Given the description of an element on the screen output the (x, y) to click on. 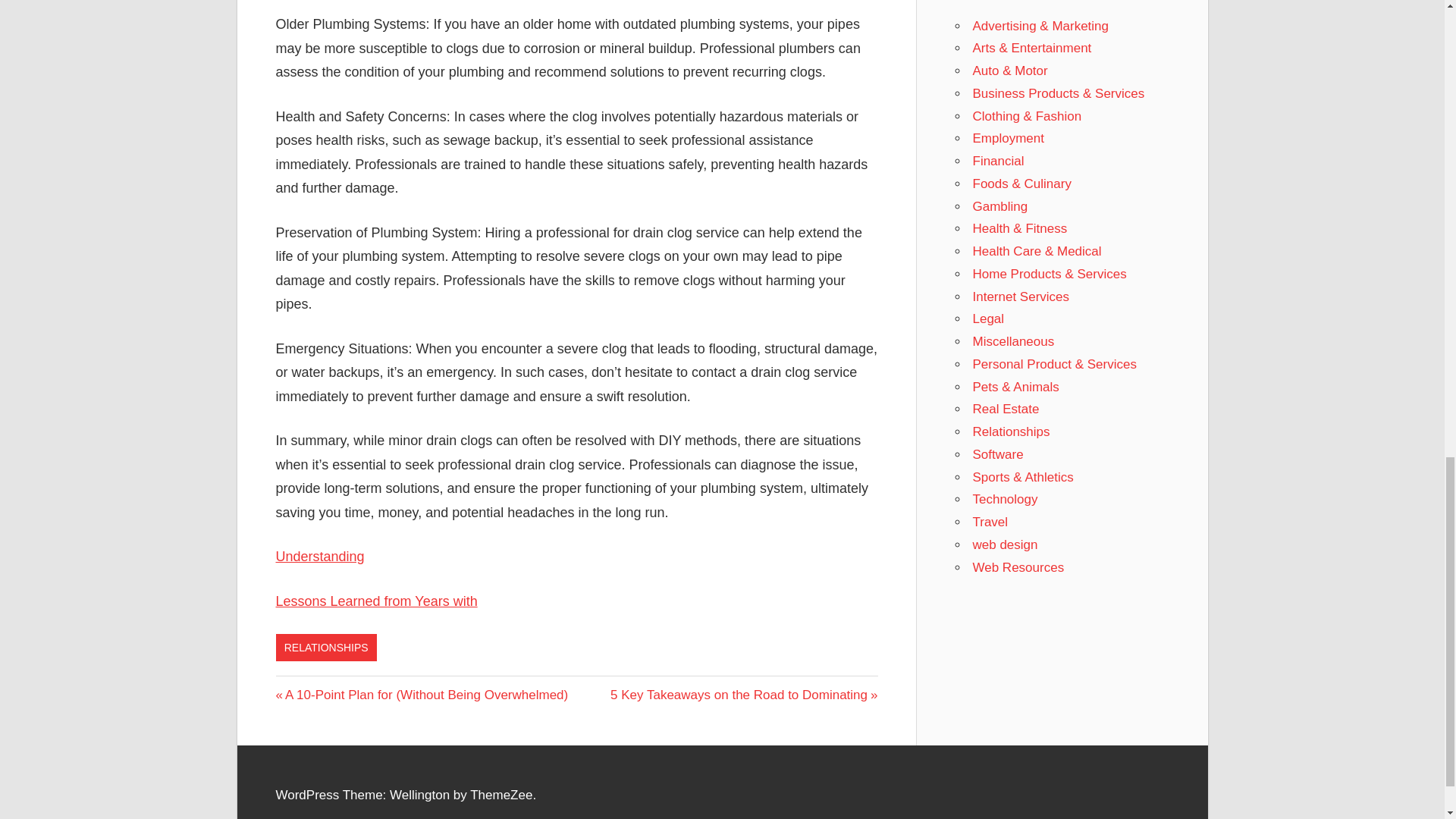
Employment (1007, 138)
Gambling (999, 206)
Financial (997, 160)
Lessons Learned from Years with (376, 601)
Understanding (320, 556)
RELATIONSHIPS (743, 694)
